Given the description of an element on the screen output the (x, y) to click on. 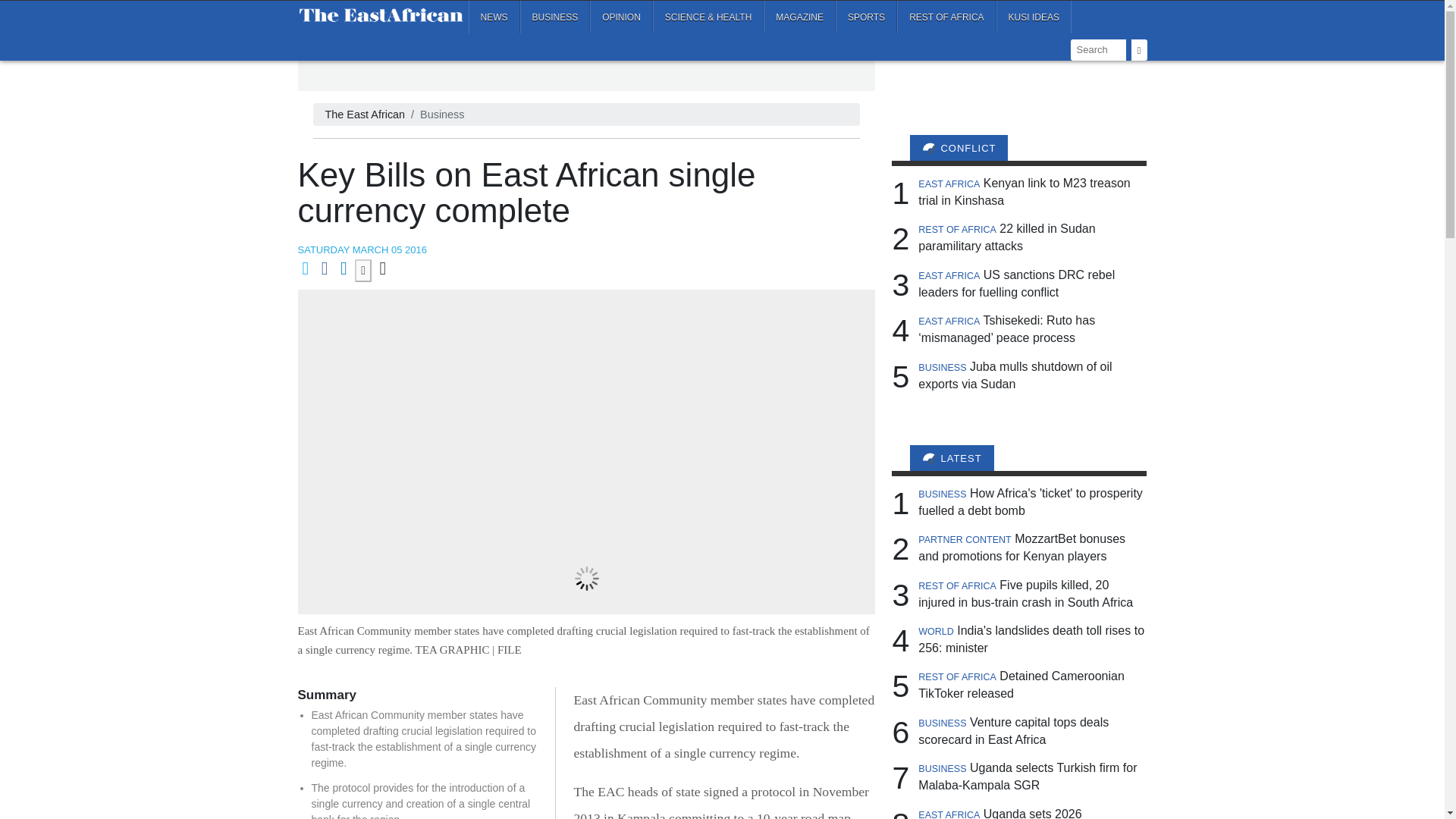
MAGAZINE (798, 16)
BUSINESS (555, 16)
OPINION (620, 16)
NEWS (493, 16)
SPORTS (865, 16)
